Given the description of an element on the screen output the (x, y) to click on. 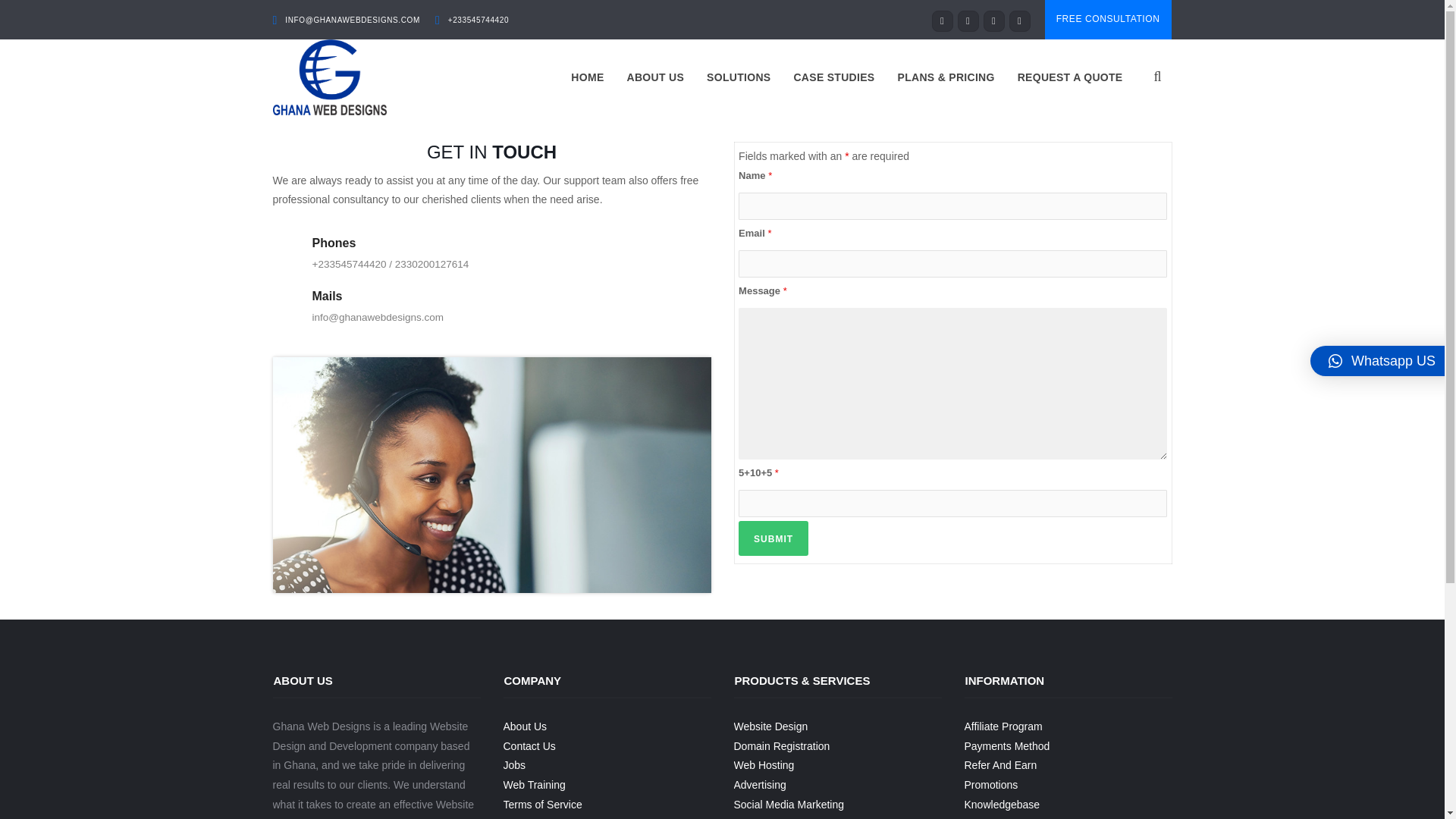
Submit (773, 538)
FREE CONSULTATION (1108, 19)
CASE STUDIES (833, 77)
Submit (773, 538)
ABOUT US (655, 77)
SOLUTIONS (738, 77)
REQUEST A QUOTE (1070, 77)
